Given the description of an element on the screen output the (x, y) to click on. 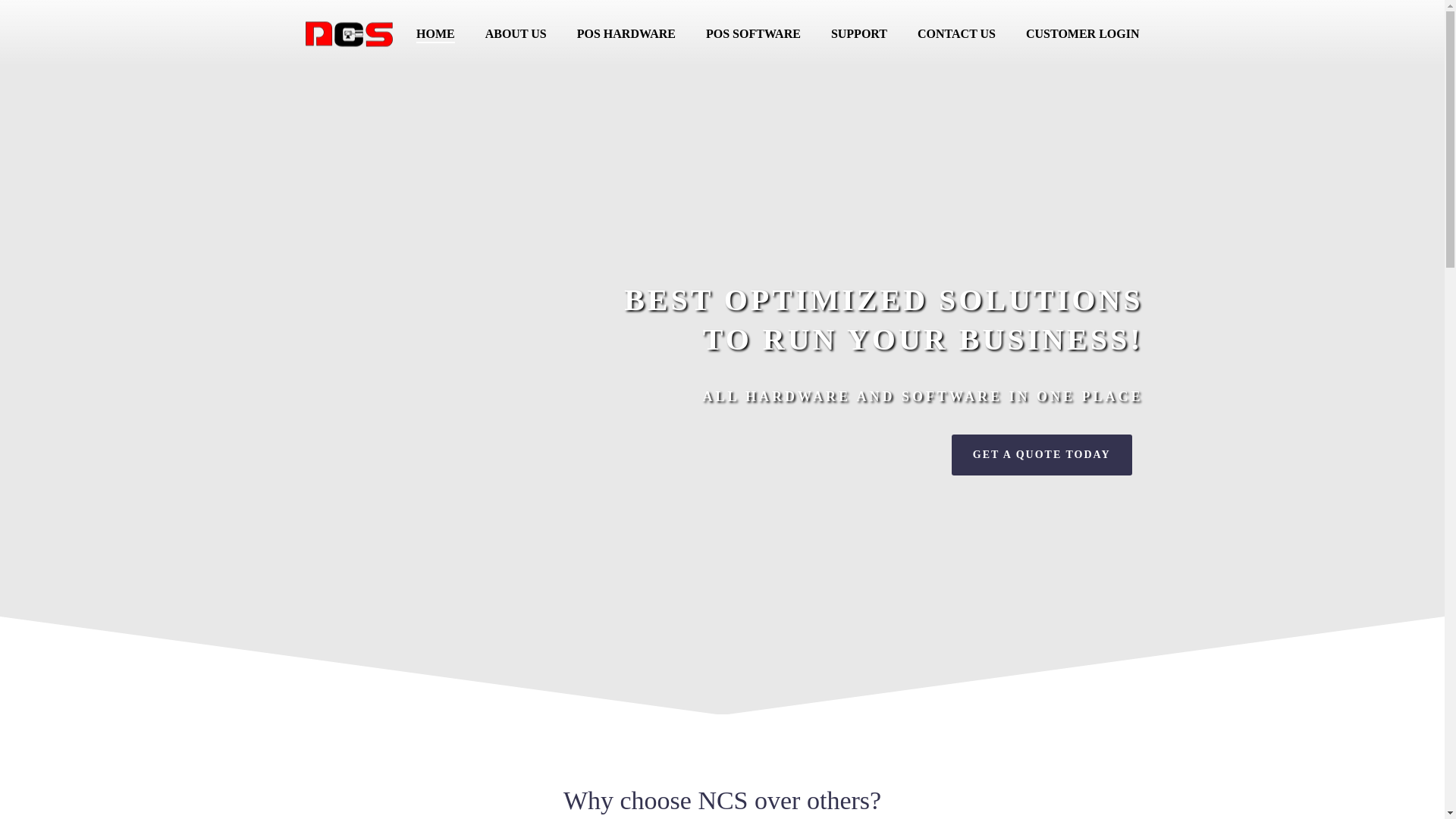
CONTACT US (956, 34)
POS HARDWARE (626, 34)
POS HARDWARE (626, 34)
CUSTOMER LOGIN (1082, 34)
SUPPORT (858, 34)
POS SOFTWARE (752, 34)
GET A QUOTE TODAY (1042, 454)
CUSTOMER LOGIN (1082, 34)
ABOUT US (516, 34)
CONTACT US (956, 34)
POS SOFTWARE (752, 34)
HOME (435, 34)
ABOUT US (516, 34)
SUPPORT (858, 34)
GET A QUOTE TODAY (1042, 454)
